Given the description of an element on the screen output the (x, y) to click on. 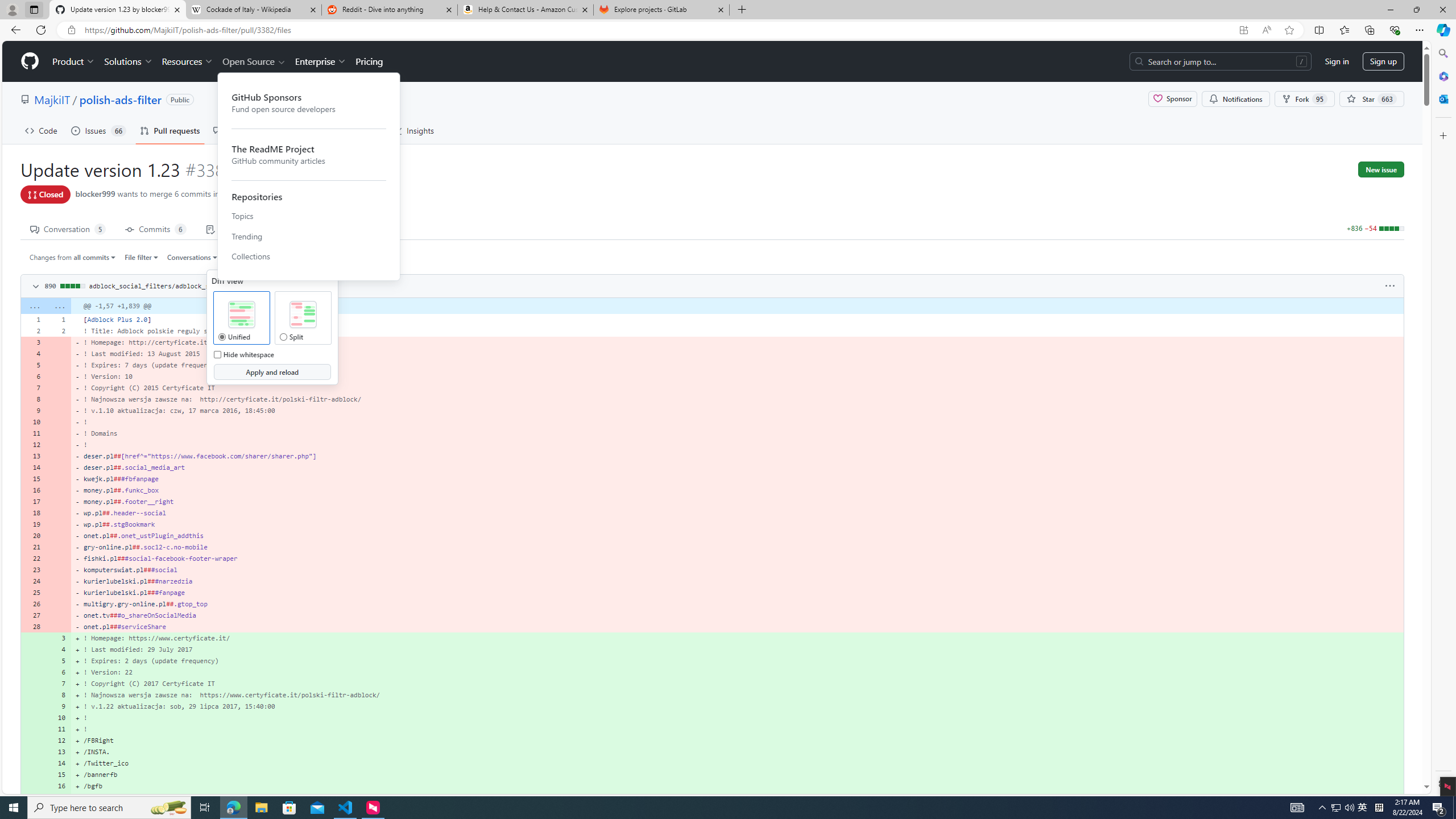
Homepage (29, 61)
- ! Expires: 7 days (update frequency)  (737, 365)
You must be signed in to star a repository (1371, 98)
+ ! v.1.22 aktualizacja: sob, 29 lipca 2017, 15:40:00  (737, 706)
Cockade of Italy - Wikipedia (253, 9)
Diff settings (271, 256)
7 (58, 683)
27 (33, 614)
23 (33, 569)
- ! Copyright (C) 2015 Certyficate IT (737, 387)
- deser.pl##.social_media_art (737, 467)
